Given the description of an element on the screen output the (x, y) to click on. 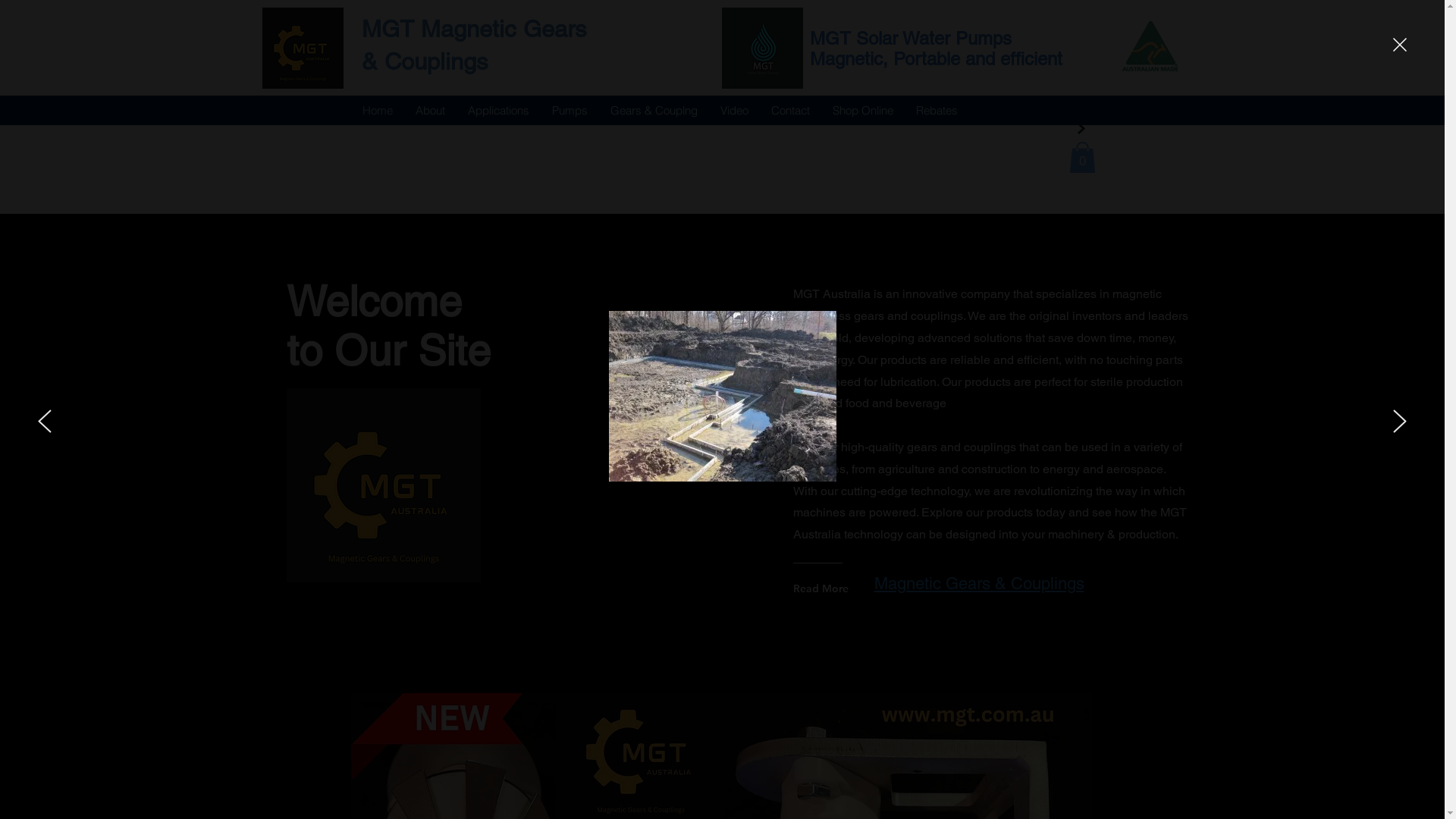
3.png Element type: hover (762, 47)
Video Element type: text (733, 109)
Shop Online Element type: text (861, 109)
Read More Element type: text (852, 588)
About Element type: text (429, 109)
4.png Element type: hover (383, 485)
Pumps Element type: text (568, 109)
Home Element type: text (376, 109)
0 Element type: text (1082, 156)
Magnetic Gears & Couplings Element type: text (978, 583)
Contact Element type: text (790, 109)
Applications Element type: text (498, 109)
Gears & Couplng Element type: text (654, 109)
Rebates Element type: text (935, 109)
